Given the description of an element on the screen output the (x, y) to click on. 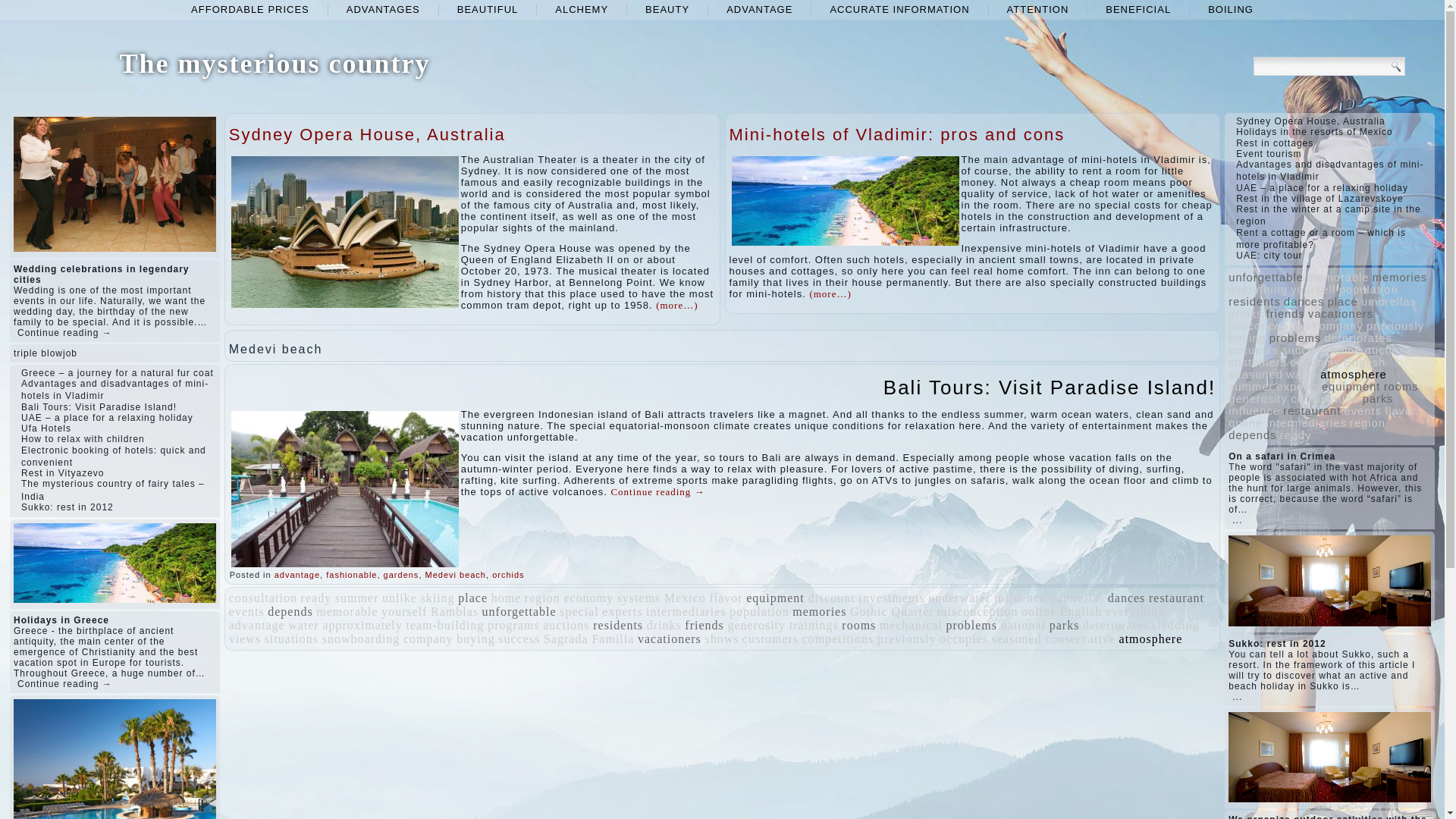
Electronic booking of hotels: quick and convenient (113, 456)
accurate information (898, 9)
ALCHEMY (581, 9)
BOILING (1230, 9)
boiling (1230, 9)
AFFORDABLE PRICES (250, 9)
Sukko: rest in 2012 (67, 507)
ADVANTAGES (383, 9)
How to relax with children (82, 439)
beauty (667, 9)
